Given the description of an element on the screen output the (x, y) to click on. 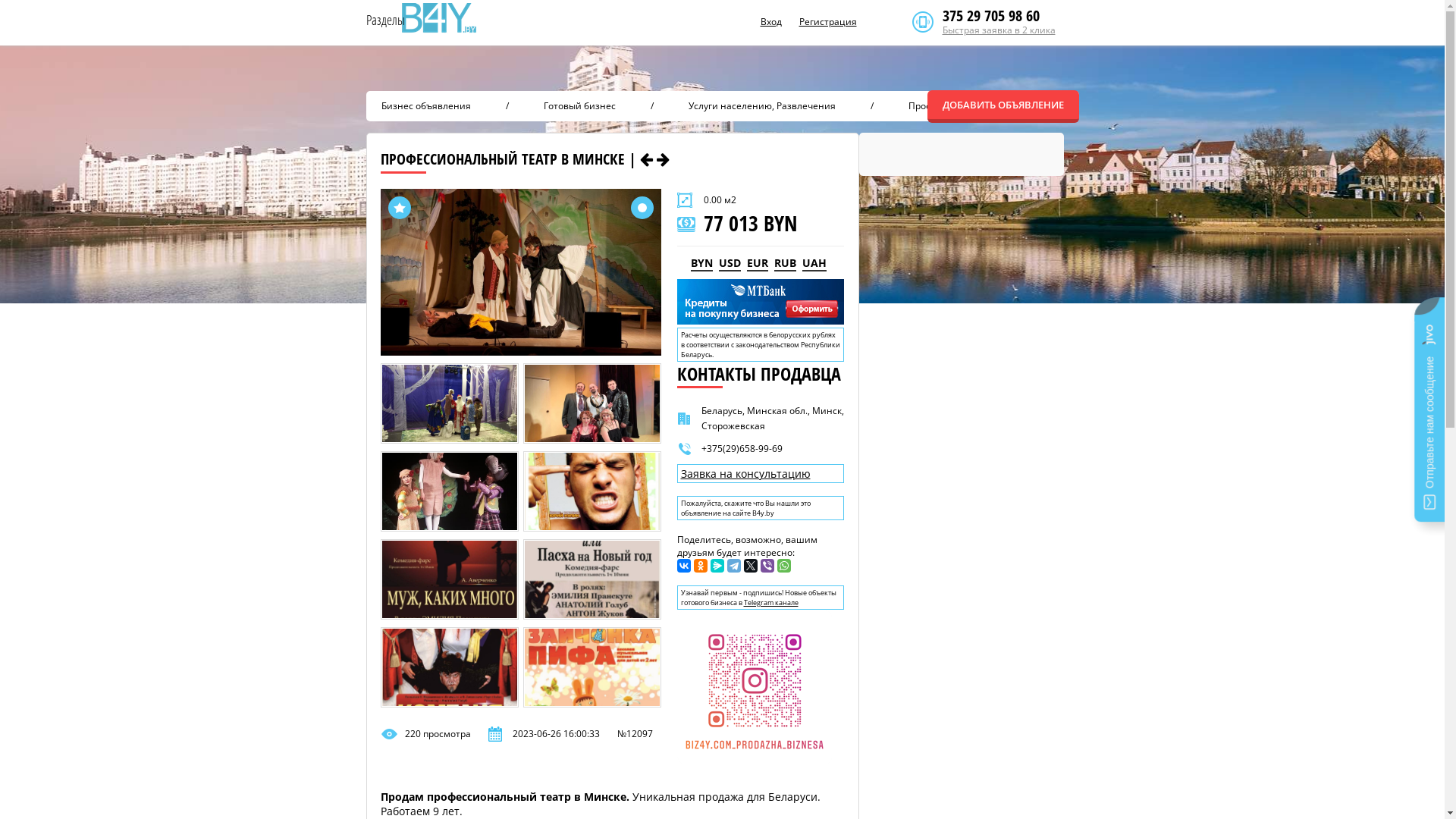
WhatsApp Element type: hover (783, 565)
Telegram Element type: hover (733, 565)
Viber Element type: hover (766, 565)
Twitter Element type: hover (749, 565)
